Given the description of an element on the screen output the (x, y) to click on. 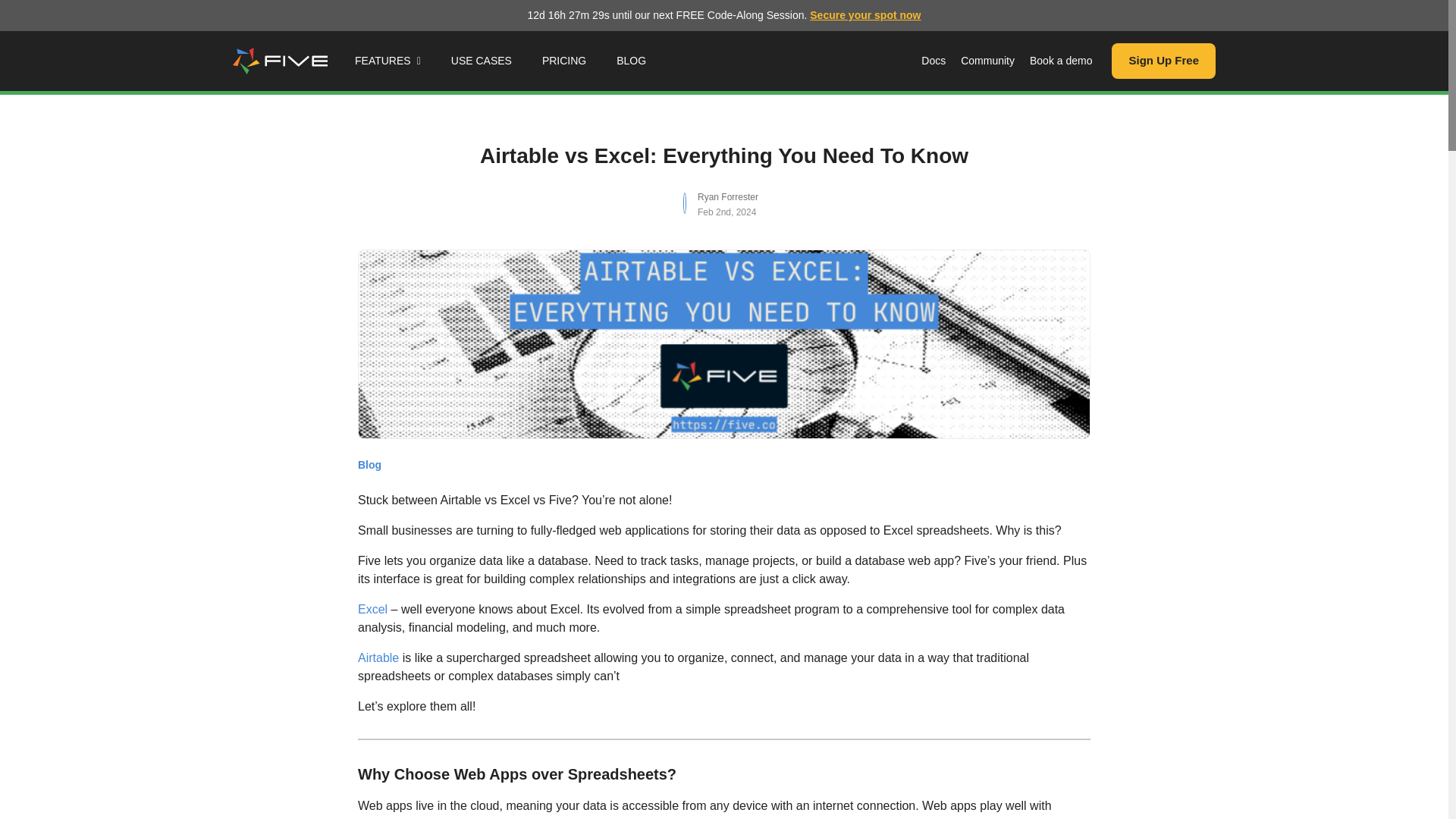
Sign Up Free (1163, 60)
Community (987, 60)
Ryan Forrester (727, 196)
BLOG (630, 60)
USE CASES (481, 60)
Secure your spot now (864, 15)
Excel (372, 608)
Airtable (378, 657)
Book a demo (1061, 60)
Docs (933, 60)
PRICING (563, 60)
FEATURES (387, 60)
